Given the description of an element on the screen output the (x, y) to click on. 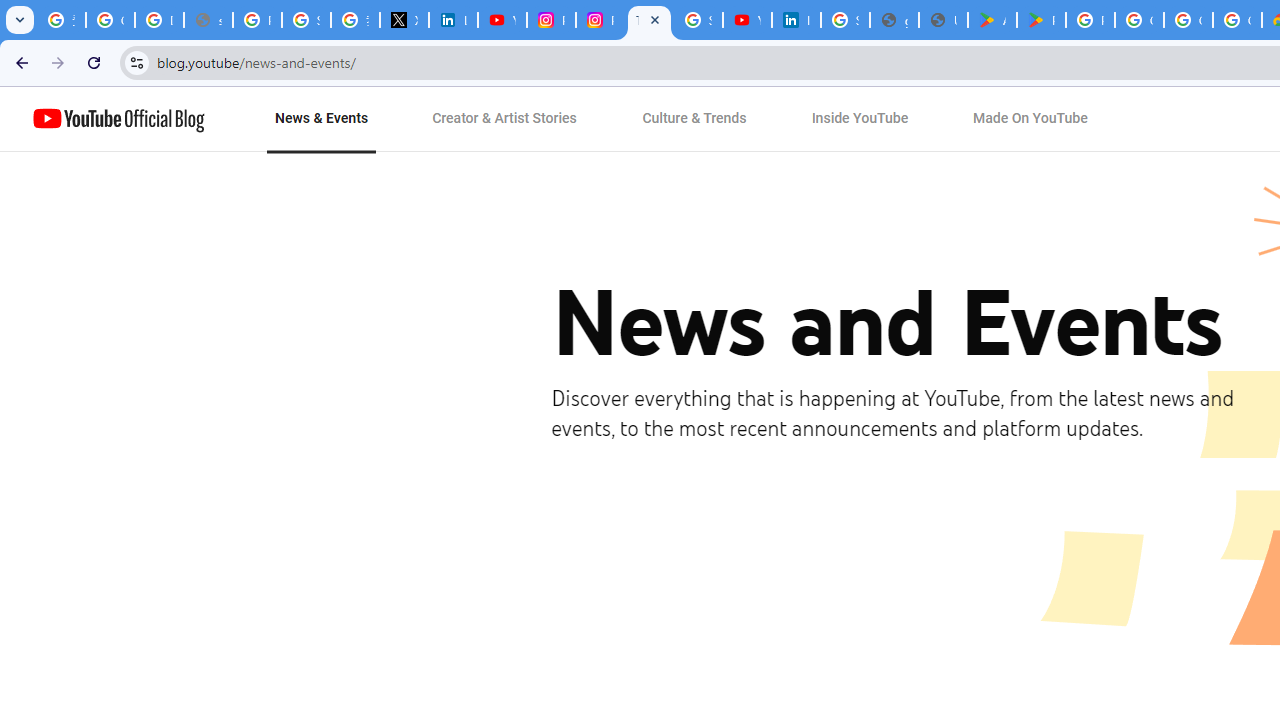
Inside YouTube (859, 119)
Google Workspace - Specific Terms (1188, 20)
YouTube Official Blog logo (118, 119)
Privacy Help Center - Policies Help (257, 20)
Culture & Trends (694, 119)
Android Apps on Google Play (992, 20)
Sign in - Google Accounts (306, 20)
